Given the description of an element on the screen output the (x, y) to click on. 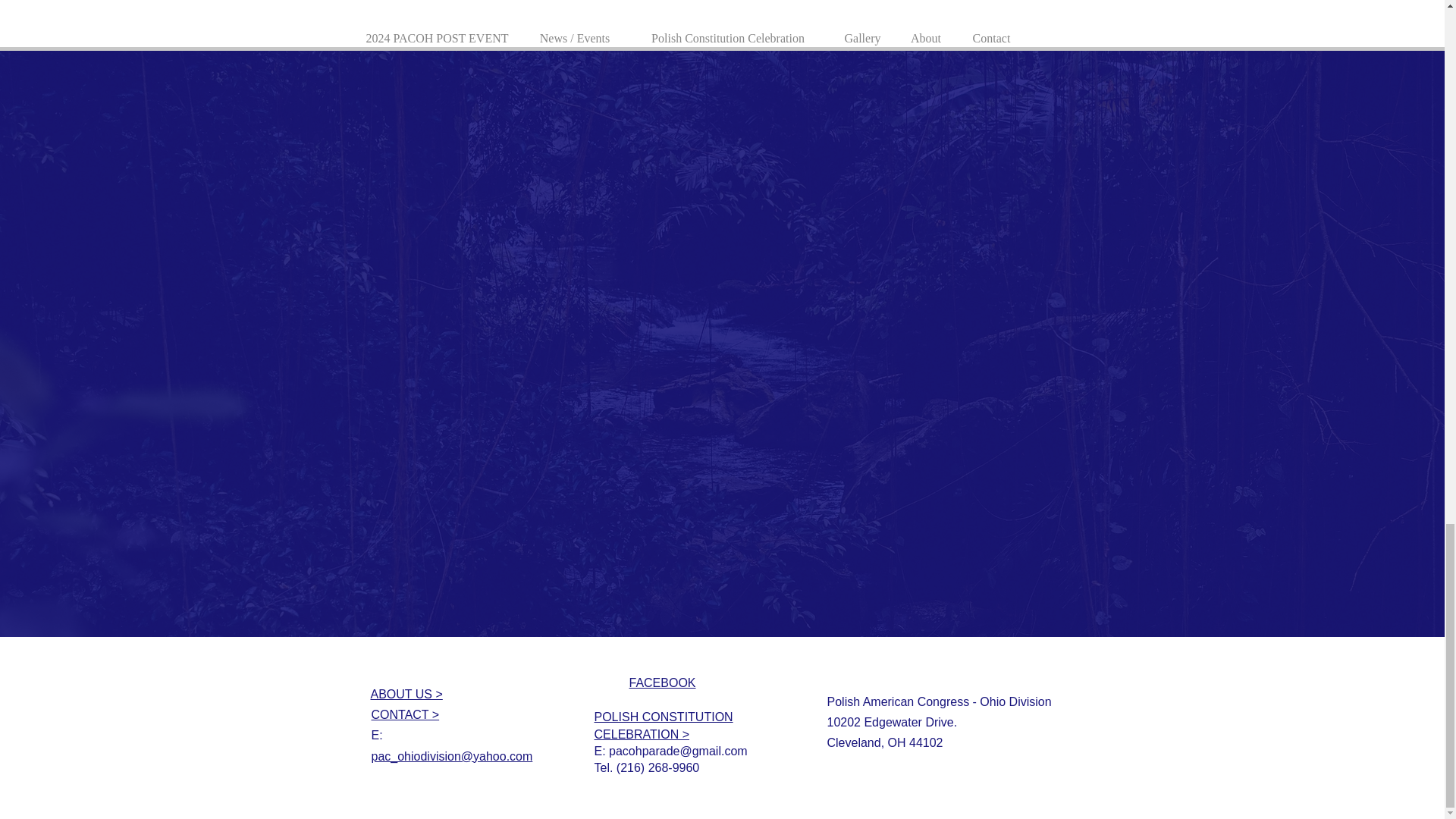
FACEBOOK (661, 682)
